Given the description of an element on the screen output the (x, y) to click on. 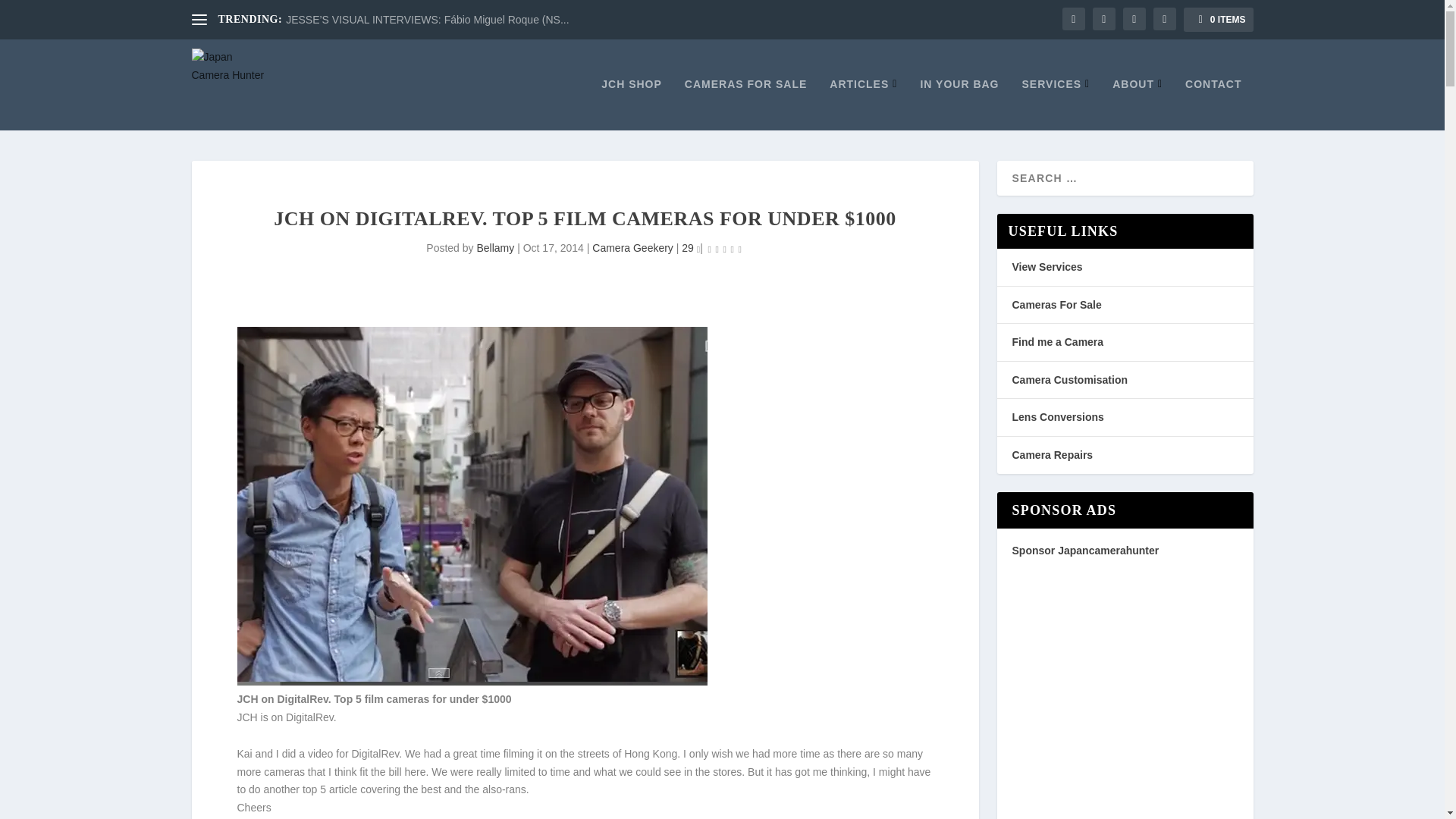
IN YOUR BAG (959, 103)
0 Items in Cart (1218, 19)
In Your Bag (959, 103)
JCH SHOP (631, 103)
ABout Japan Camera Hunter (1136, 103)
Posts by Bellamy (494, 247)
CAMERAS FOR SALE (745, 103)
0 ITEMS (1218, 19)
SERVICES (1056, 103)
